Given the description of an element on the screen output the (x, y) to click on. 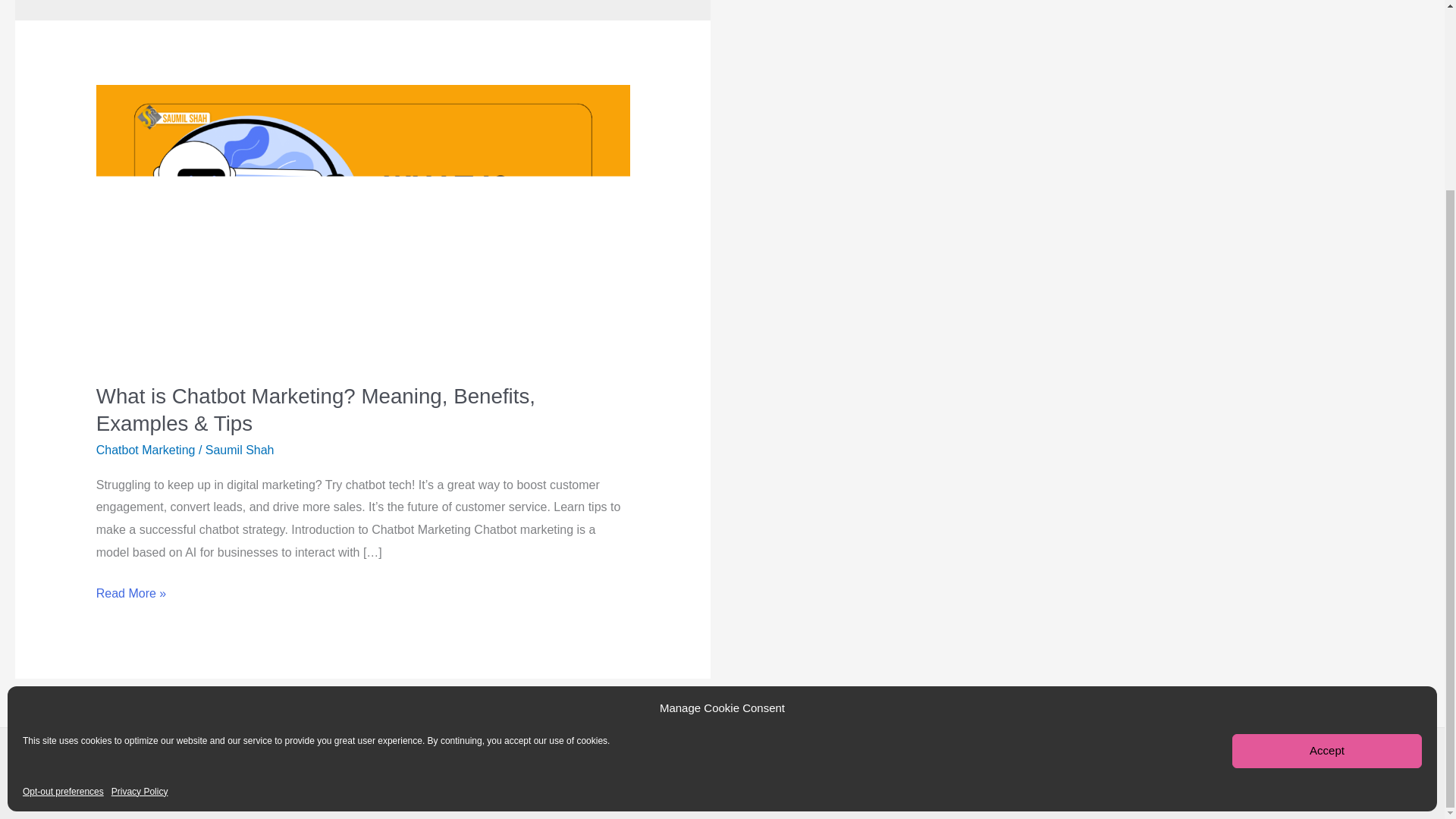
View all posts by Saumil Shah (240, 449)
Privacy Policy (140, 554)
Opt-out preferences (63, 554)
Accept (1326, 513)
